Given the description of an element on the screen output the (x, y) to click on. 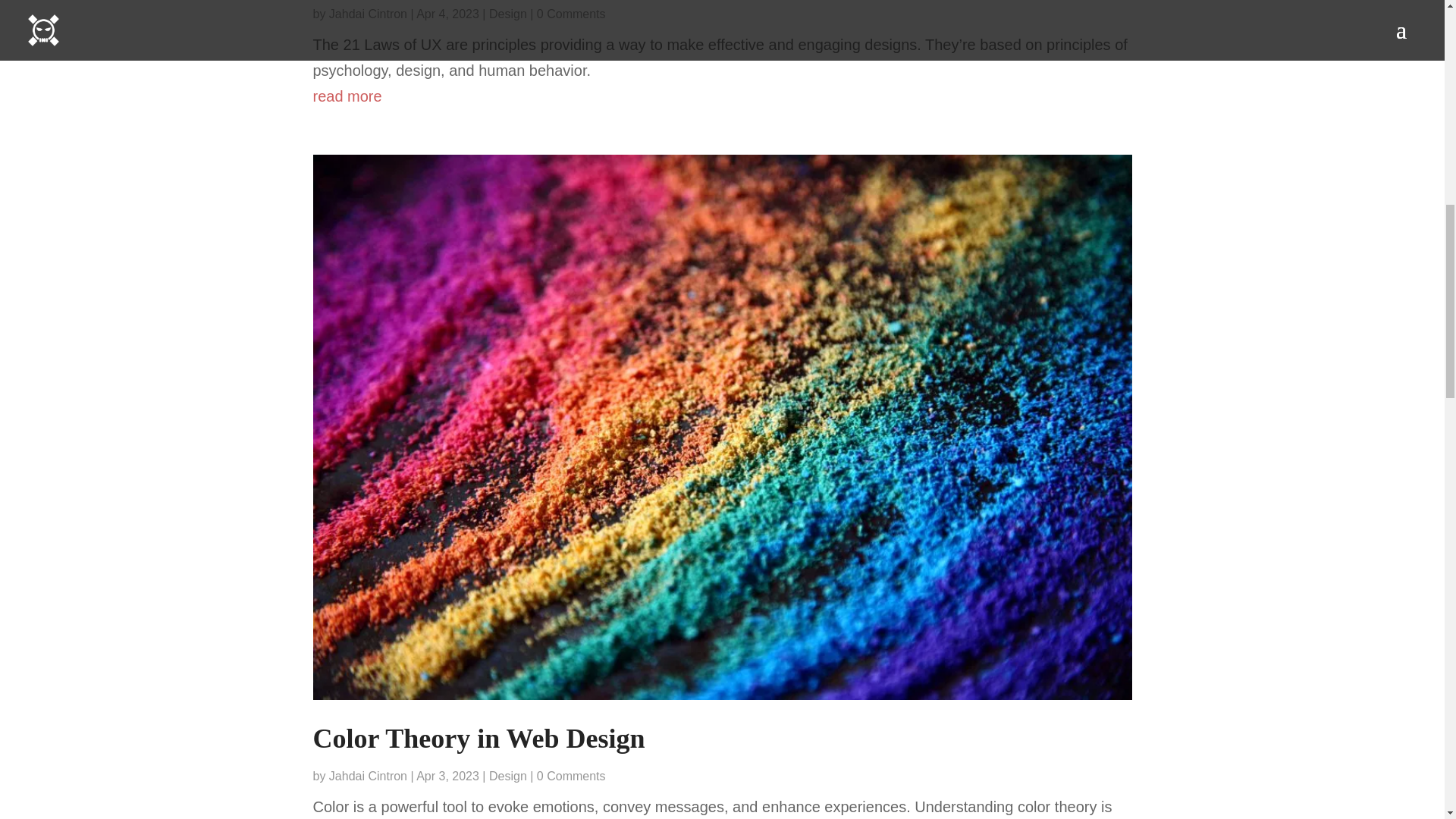
Color Theory in Web Design (479, 738)
Jahdai Cintron (368, 13)
read more (722, 95)
Design (508, 13)
Posts by Jahdai Cintron (368, 13)
Jahdai Cintron (368, 775)
Posts by Jahdai Cintron (368, 775)
Design (508, 775)
